Given the description of an element on the screen output the (x, y) to click on. 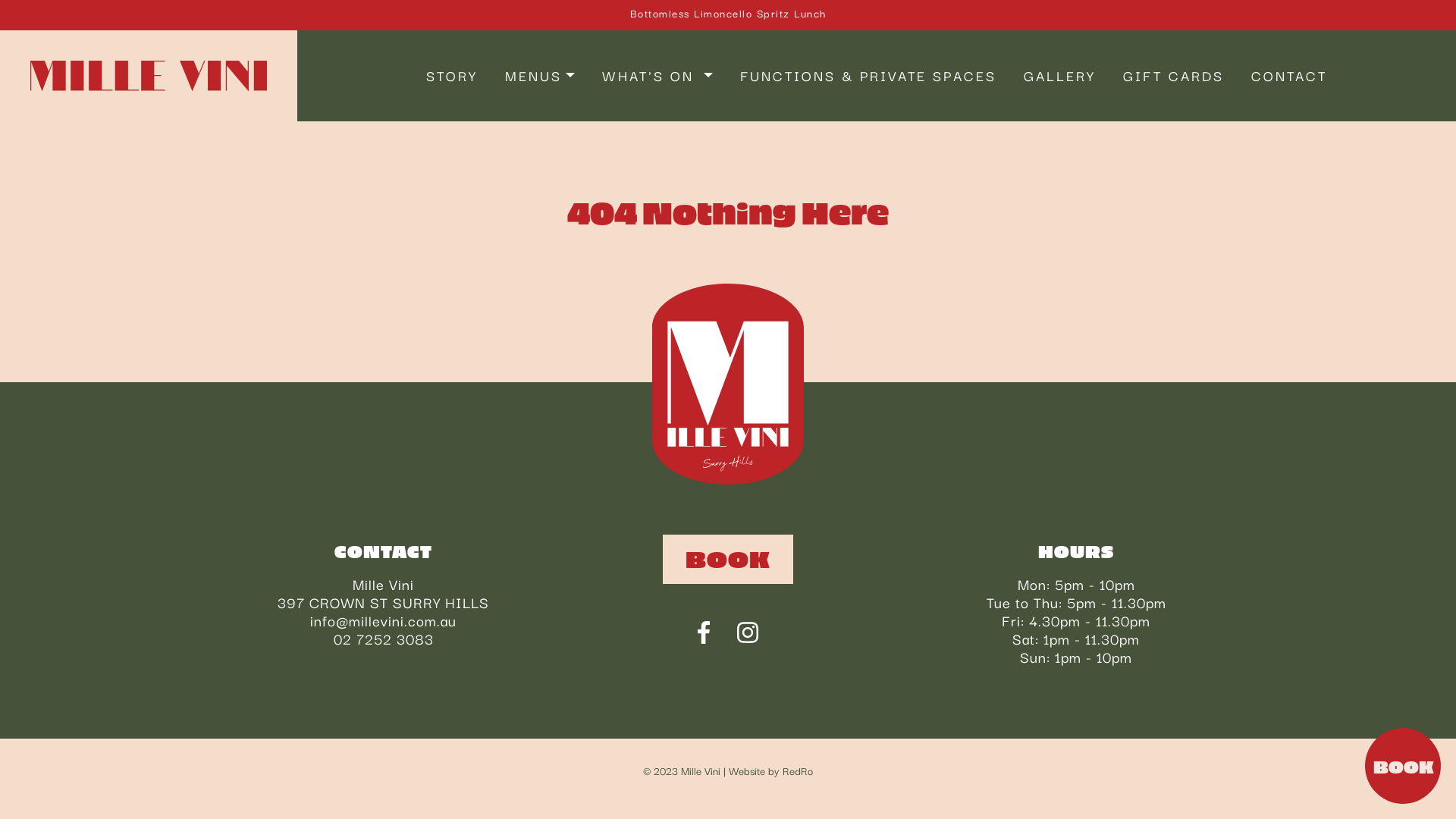
WHAT'S ON Element type: text (657, 75)
STORY Element type: text (451, 75)
info@millevini.com.au Element type: text (383, 619)
BOOK Element type: text (1402, 765)
MENUS Element type: text (539, 75)
GIFT CARDS Element type: text (1173, 75)
FUNCTIONS & PRIVATE SPACES Element type: text (868, 75)
CONTACT Element type: text (1289, 75)
Website by RedRo Element type: text (770, 770)
BOOK Element type: text (727, 558)
GALLERY Element type: text (1059, 75)
02 7252 3083 Element type: text (383, 638)
